Given the description of an element on the screen output the (x, y) to click on. 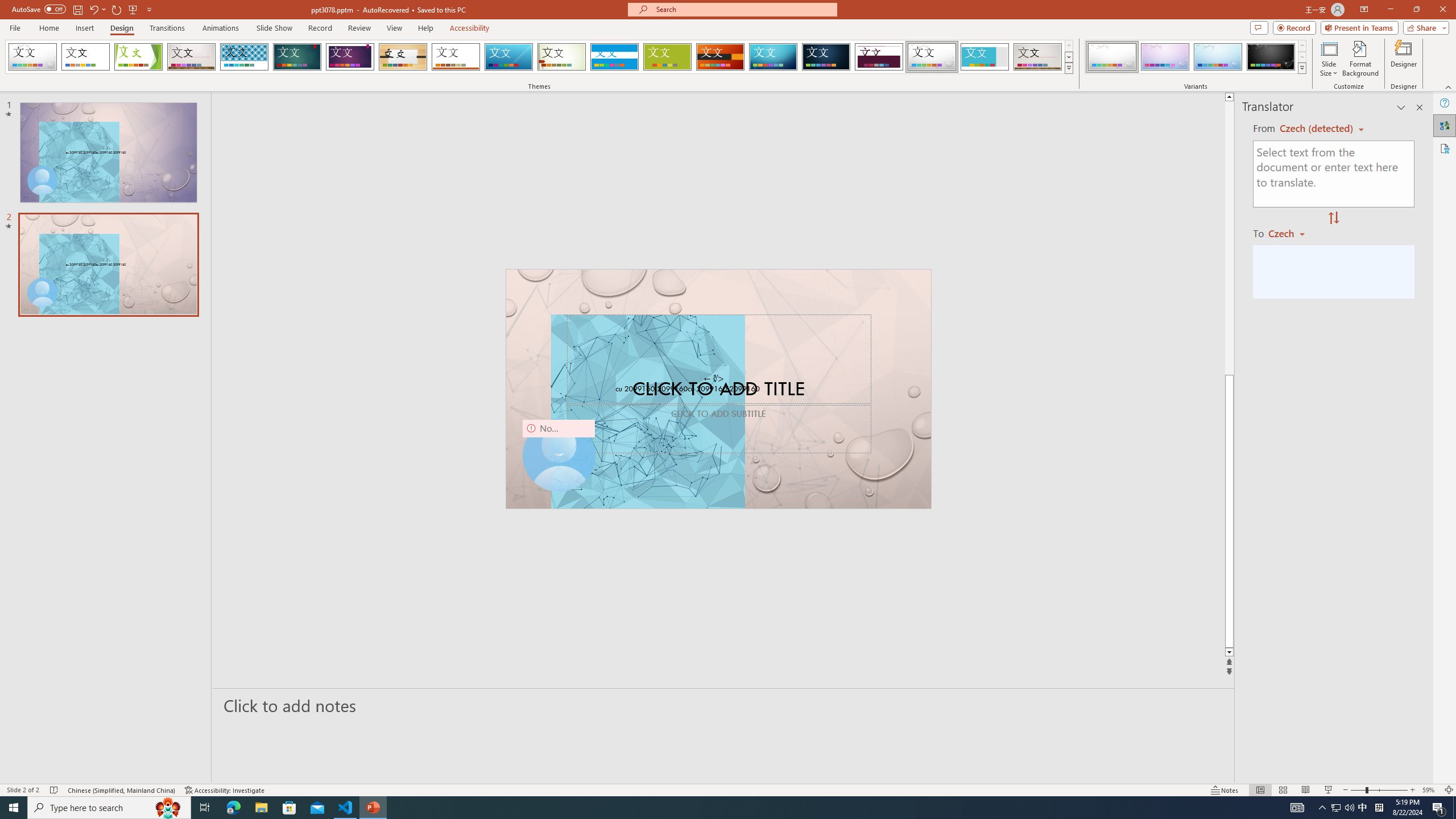
Facet (138, 56)
Berlin (720, 56)
Retrospect (455, 56)
Droplet Variant 4 (1270, 56)
Czech (1291, 232)
Circuit (772, 56)
